Given the description of an element on the screen output the (x, y) to click on. 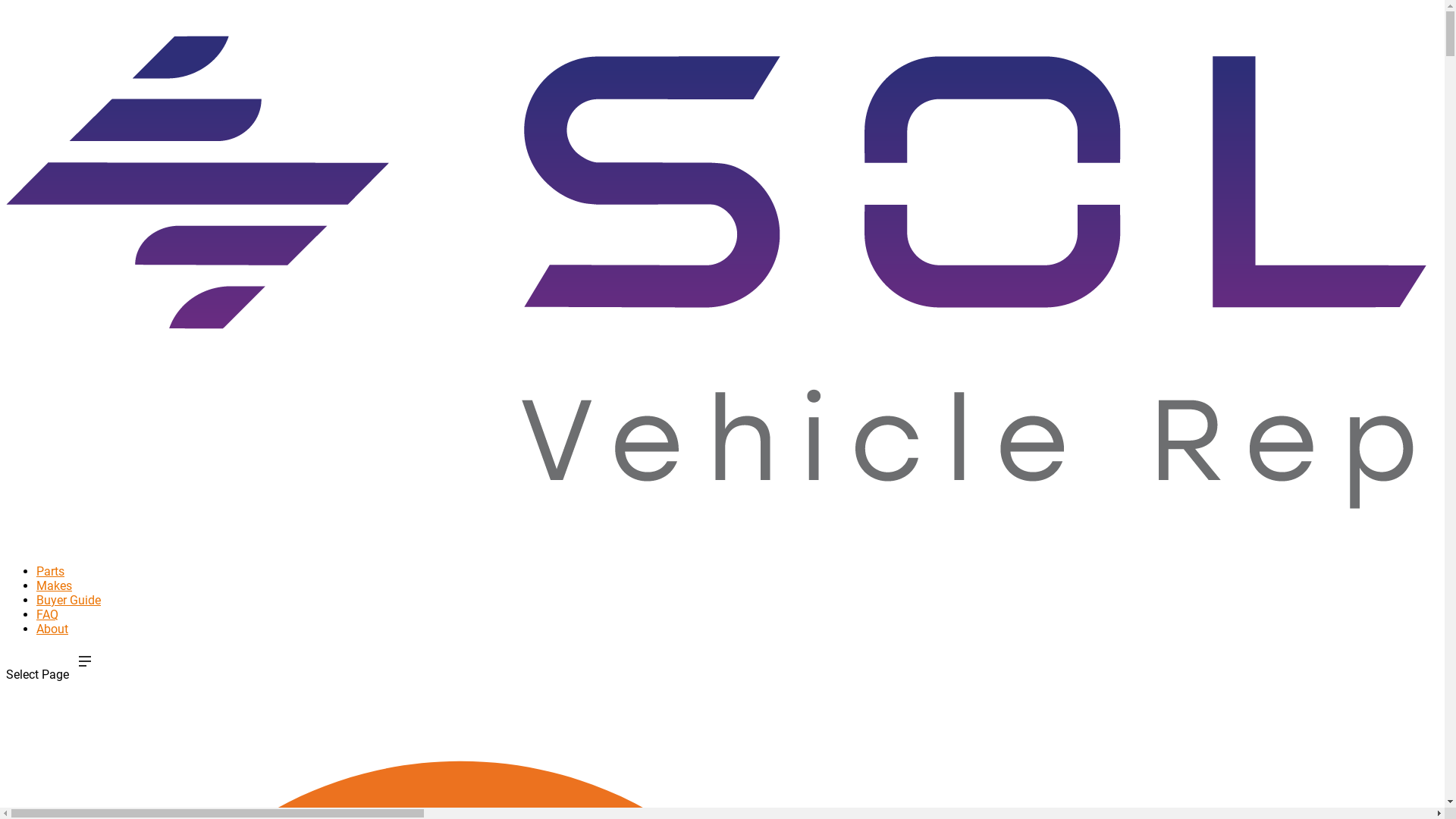
Parts Element type: text (50, 590)
About Element type: text (52, 647)
Buyer Guide Element type: text (68, 619)
FAQ Element type: text (47, 633)
Makes Element type: text (54, 604)
